Given the description of an element on the screen output the (x, y) to click on. 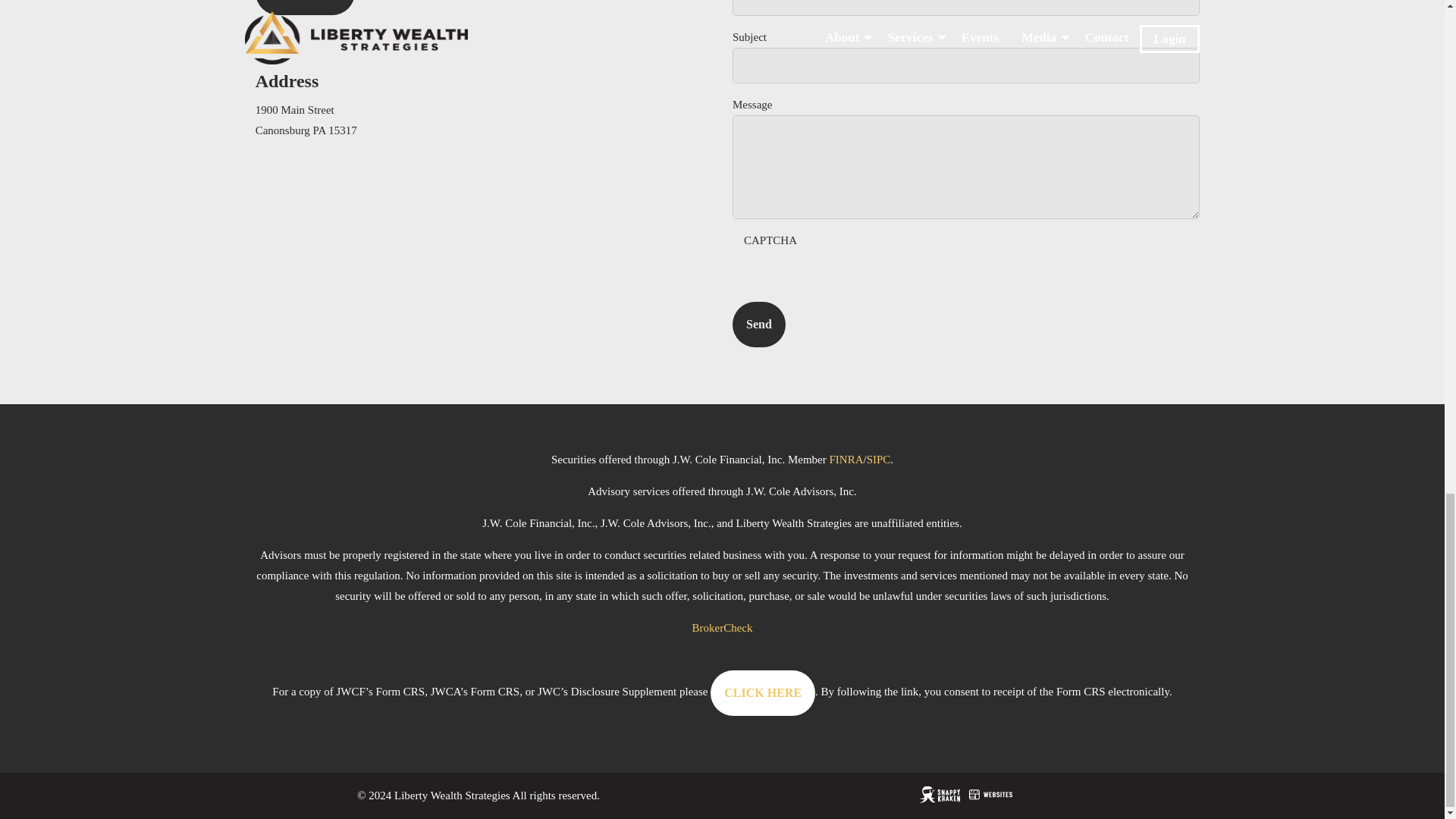
Send (759, 324)
BrokerCheck (721, 627)
FINRA (845, 459)
Send (759, 324)
CLICK HERE (762, 692)
SIPC (878, 459)
